Given the description of an element on the screen output the (x, y) to click on. 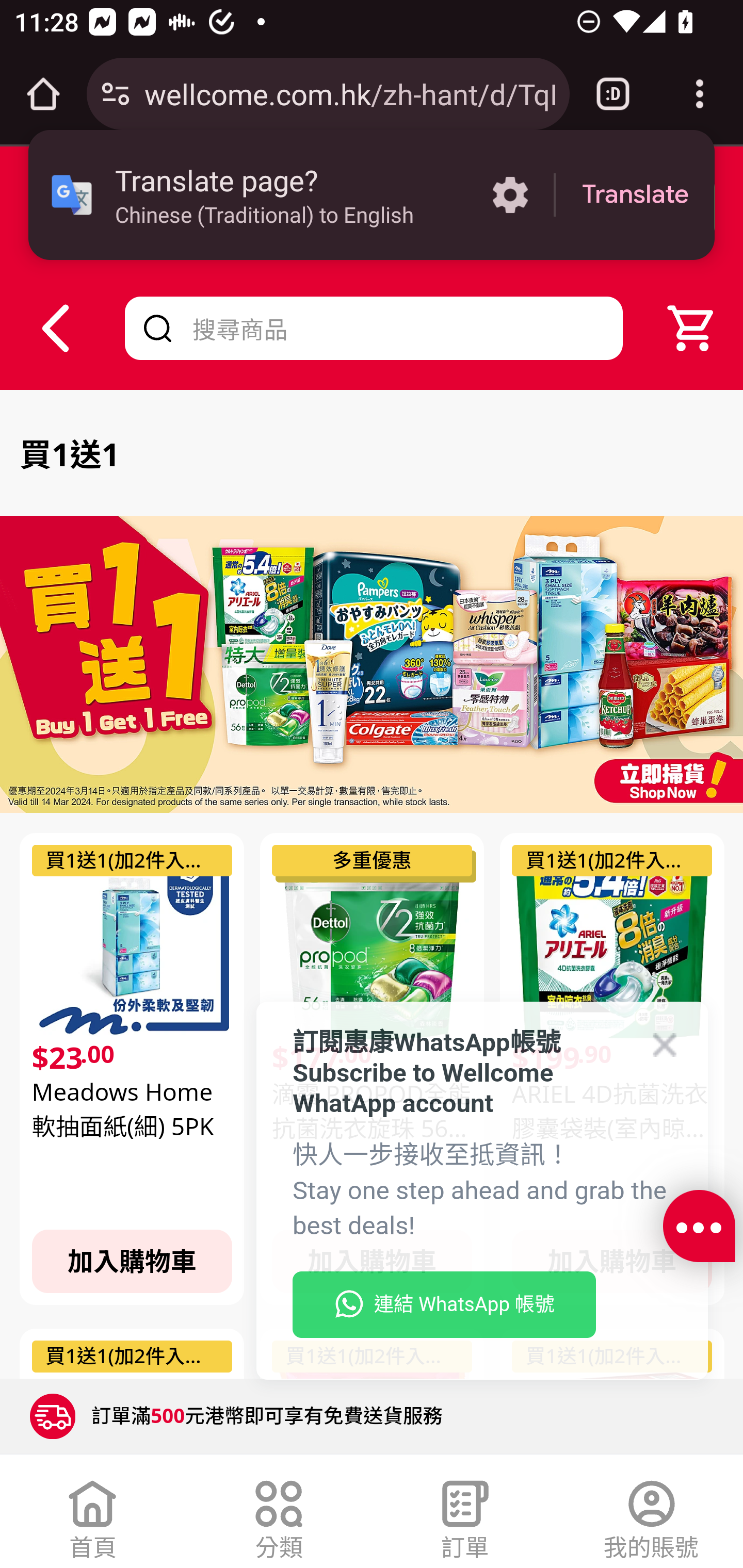
Open the home page (43, 93)
Connection is secure (115, 93)
Switch or close tabs (612, 93)
Customize and control Google Chrome (699, 93)
wellcome.com.hk/zh-hant/d/TqD6IxbS3G.html (349, 92)
Translate (634, 195)
More options in the Translate page? (509, 195)
關閉 (196, 207)
javascript:; (699, 1226)
連結 WhatsApp 帳號 (443, 1305)
首頁 (92, 1515)
分類 (278, 1515)
訂單 (464, 1515)
我的賬號 (650, 1515)
